Given the description of an element on the screen output the (x, y) to click on. 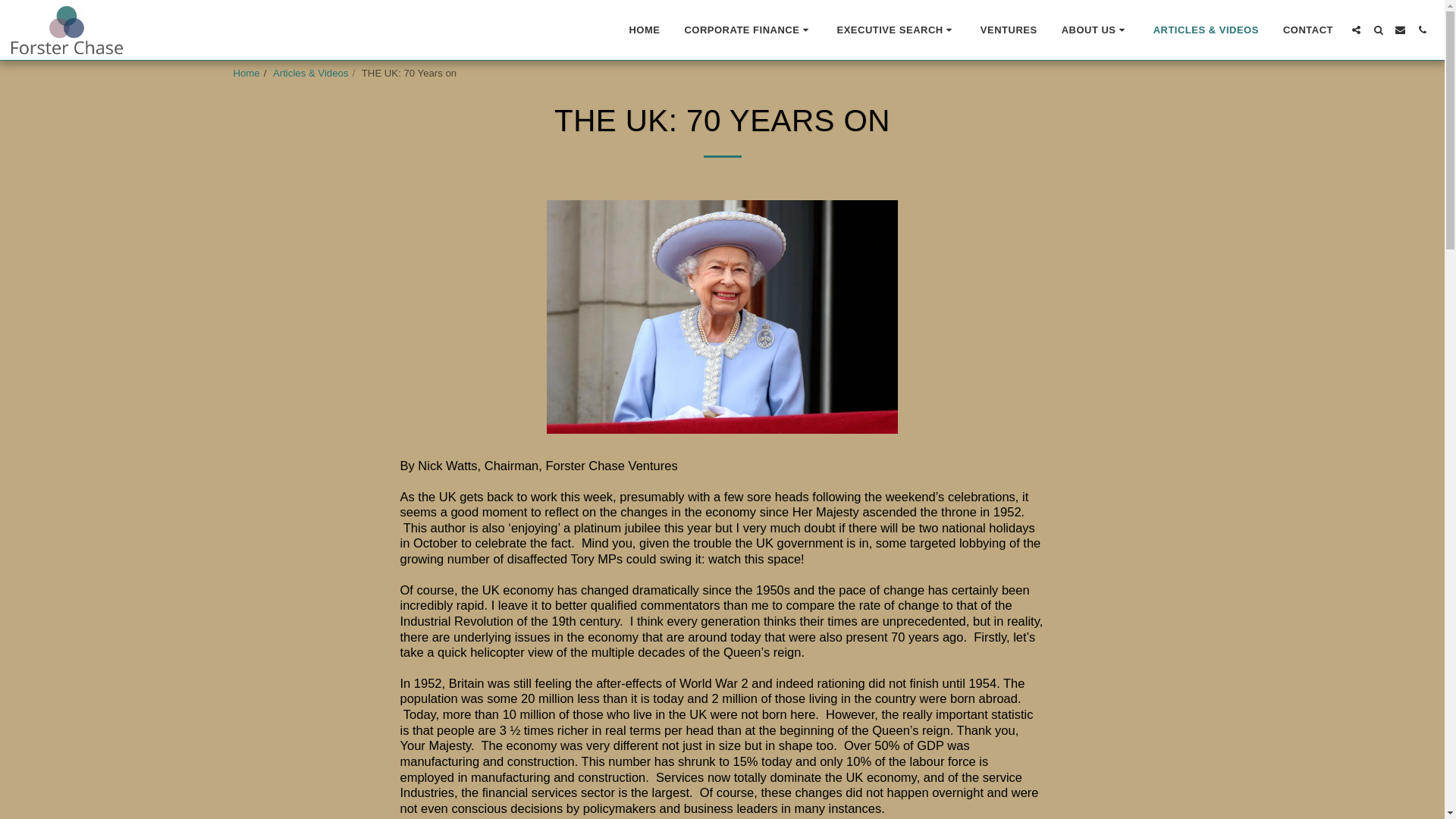
HOME (644, 29)
EXECUTIVE SEARCH   (896, 29)
CONTACT (1307, 29)
VENTURES (1008, 29)
ABOUT US   (1094, 29)
CORPORATE FINANCE   (748, 29)
